Given the description of an element on the screen output the (x, y) to click on. 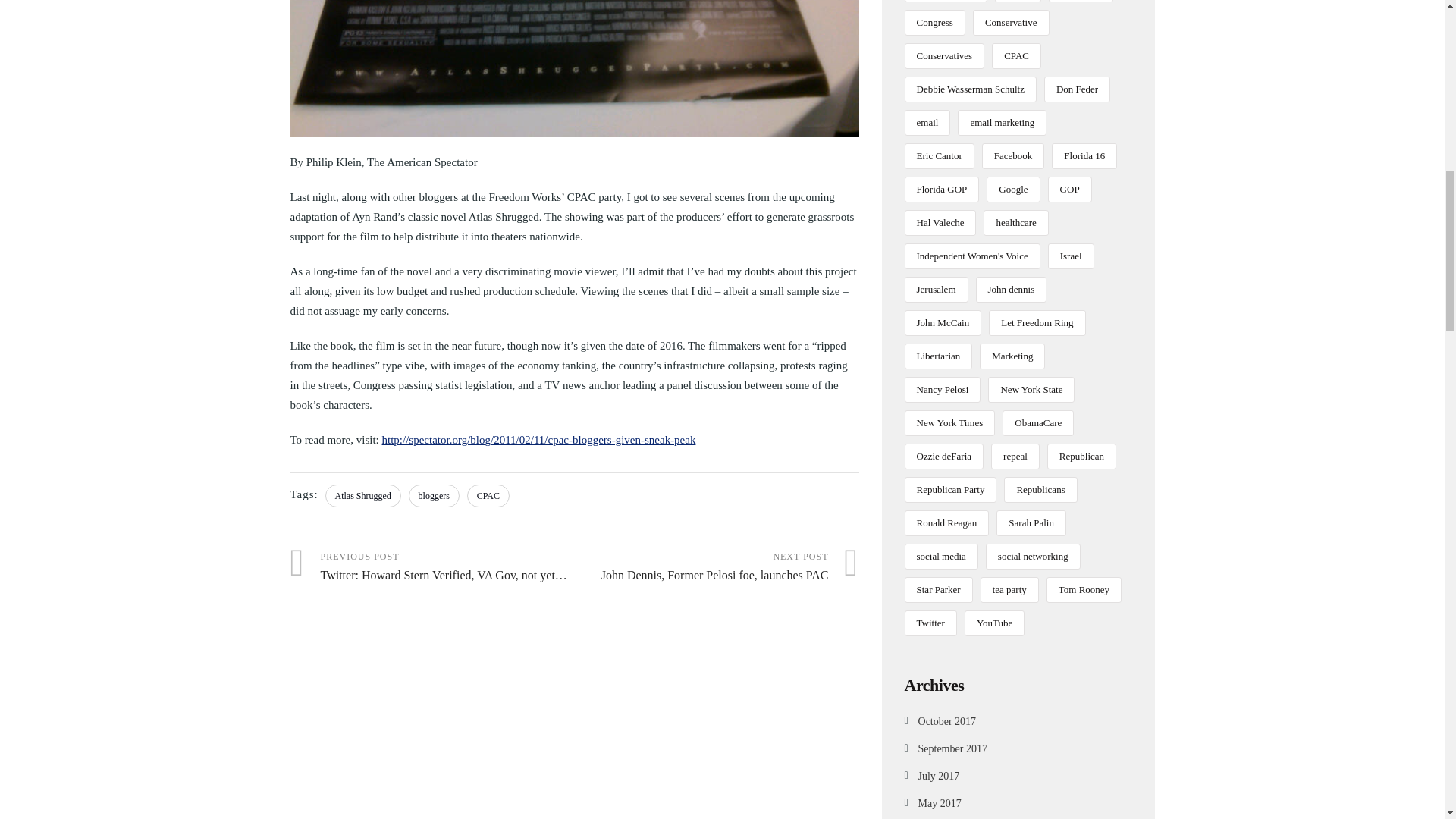
Conservative (1010, 22)
Conservatives (944, 55)
CPAC (488, 495)
John Dennis, Former Pelosi foe, launches PAC (717, 566)
Atlas Shrugged movie (717, 566)
Congress (574, 68)
Atlas Shrugged (934, 22)
CA-8 (362, 495)
Barack Obama (1017, 1)
